Given the description of an element on the screen output the (x, y) to click on. 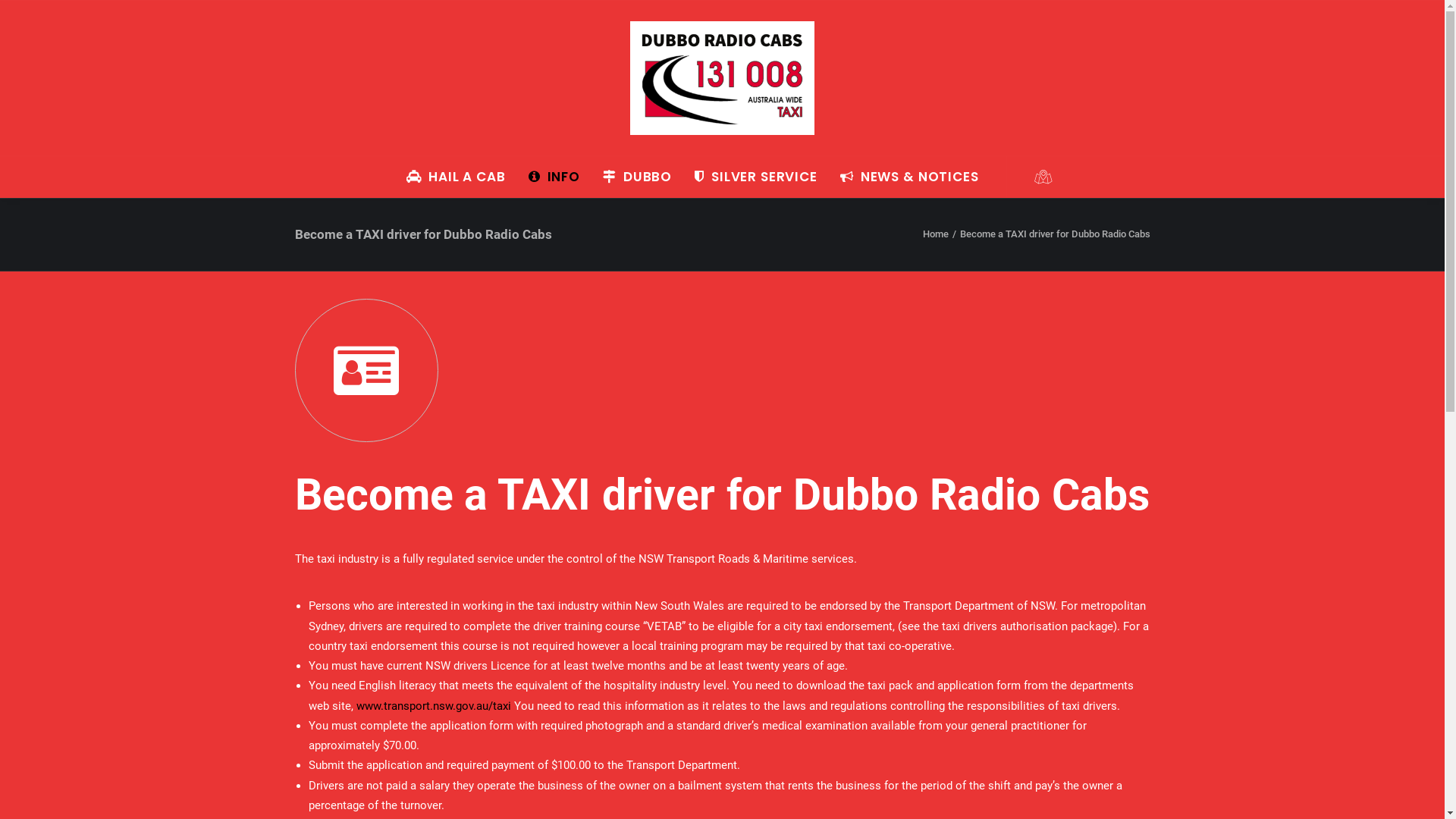
HAIL A CAB Element type: text (455, 176)
NEWS & NOTICES Element type: text (904, 176)
INFO Element type: text (553, 176)
www.transport.nsw.gov.au/taxi Element type: text (433, 705)
SILVER SERVICE Element type: text (755, 176)
DUBBO Element type: text (637, 176)
Home Element type: text (934, 233)
